Given the description of an element on the screen output the (x, y) to click on. 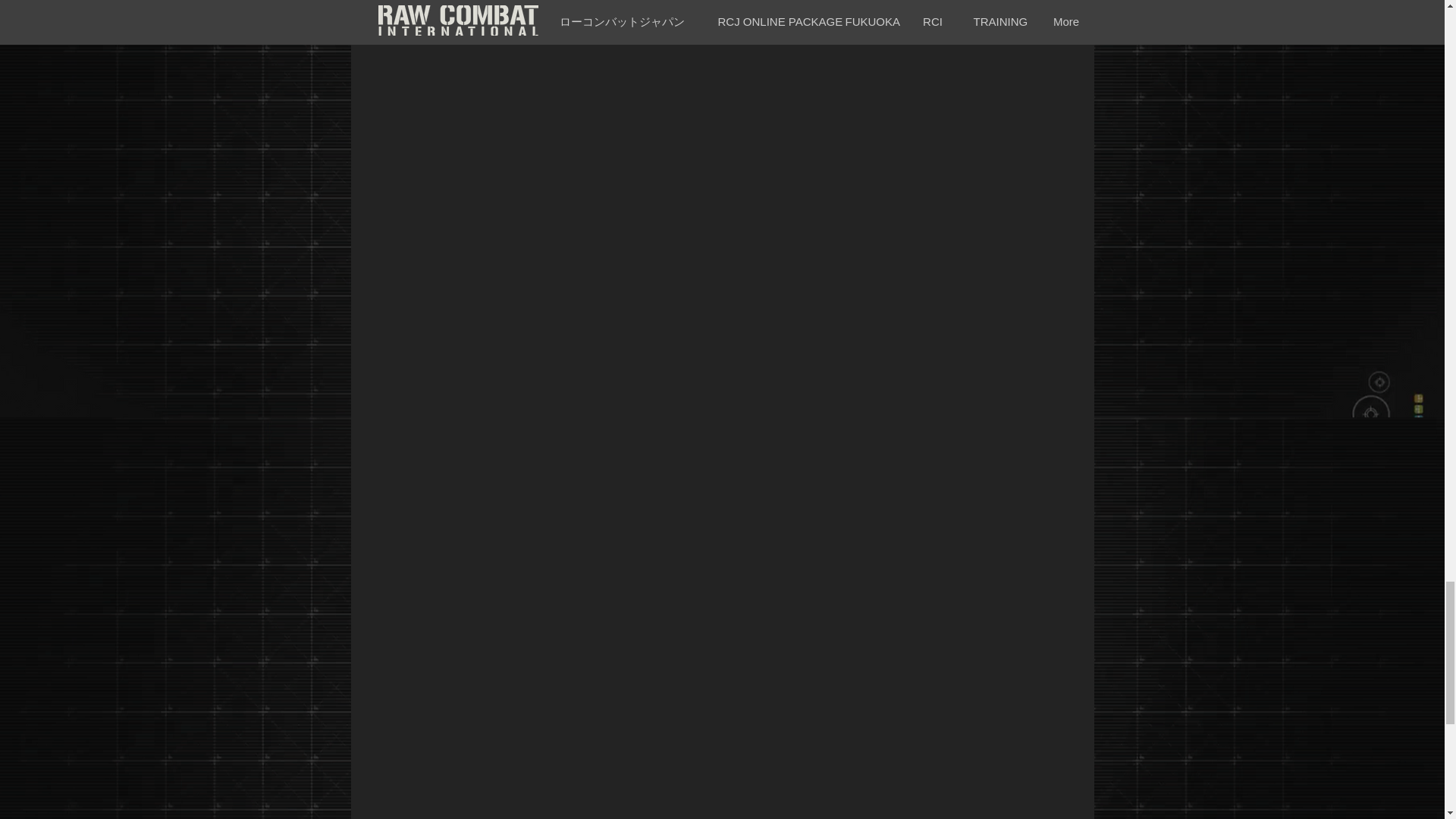
External YouTube (745, 224)
External YouTube (739, 803)
External YouTube (745, 13)
External YouTube (742, 567)
